Given the description of an element on the screen output the (x, y) to click on. 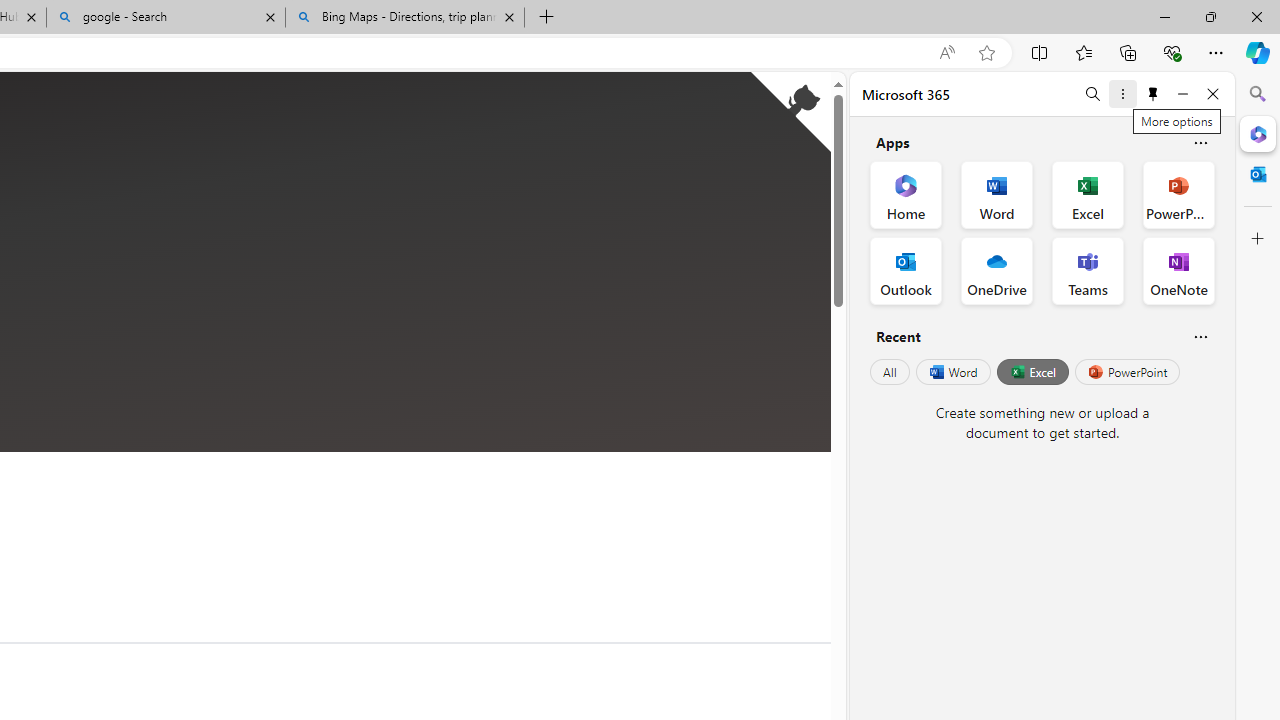
Outlook Office App (906, 270)
Word (952, 372)
OneDrive Office App (996, 270)
Excel (1031, 372)
Is this helpful? (1200, 336)
Open GitHub project (790, 111)
